Given the description of an element on the screen output the (x, y) to click on. 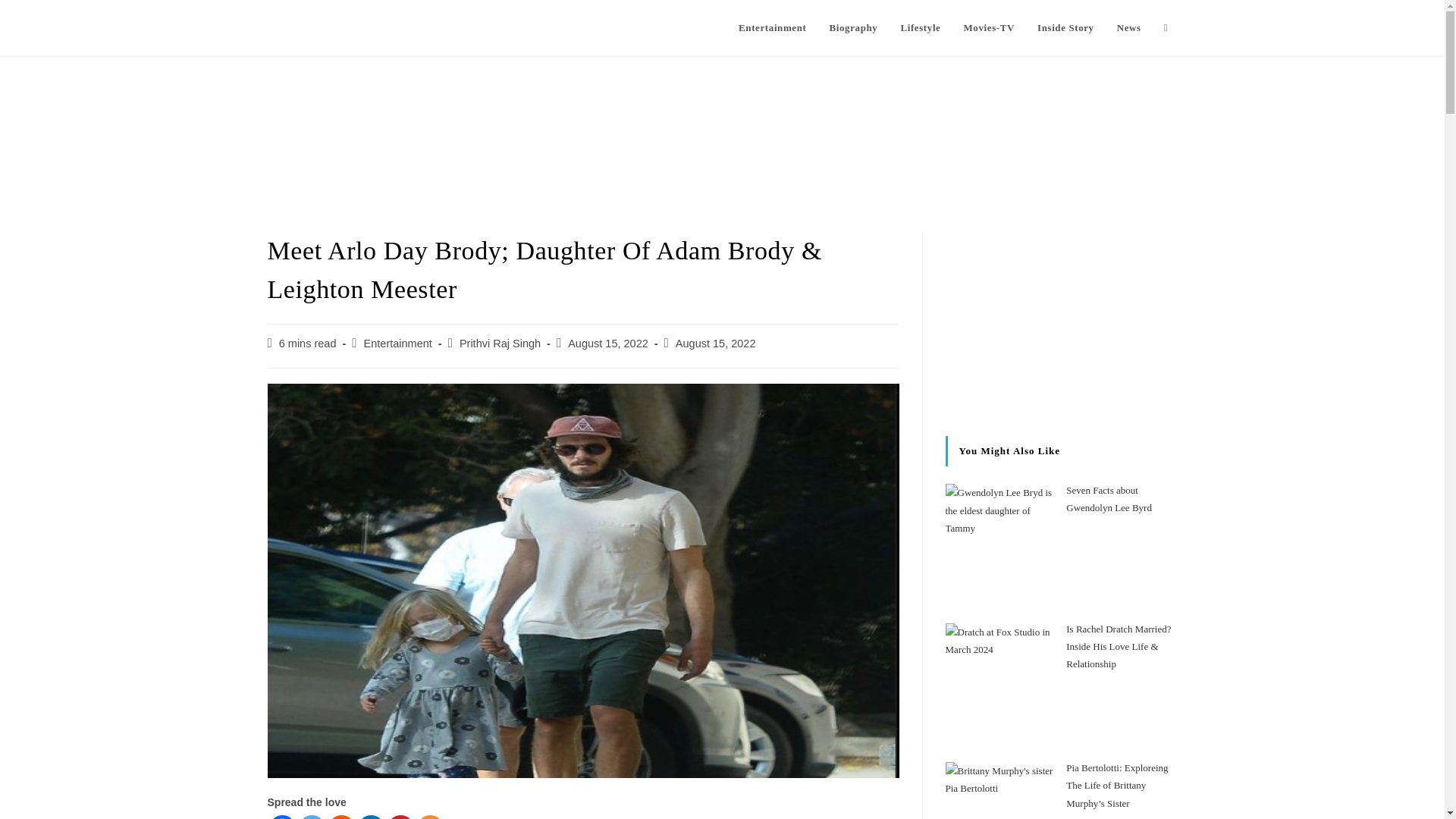
More (430, 816)
Biography (852, 28)
Linkedin (371, 816)
Movies-TV (989, 28)
Prithvi Raj Singh (500, 343)
Inside Story (1065, 28)
Posts by Prithvi Raj Singh (500, 343)
Toggle website search (1166, 28)
Entertainment (398, 343)
Reddit (340, 816)
CelebSuburb (317, 26)
Entertainment (771, 28)
Lifestyle (920, 28)
Pinterest (400, 816)
Facebook (281, 816)
